Given the description of an element on the screen output the (x, y) to click on. 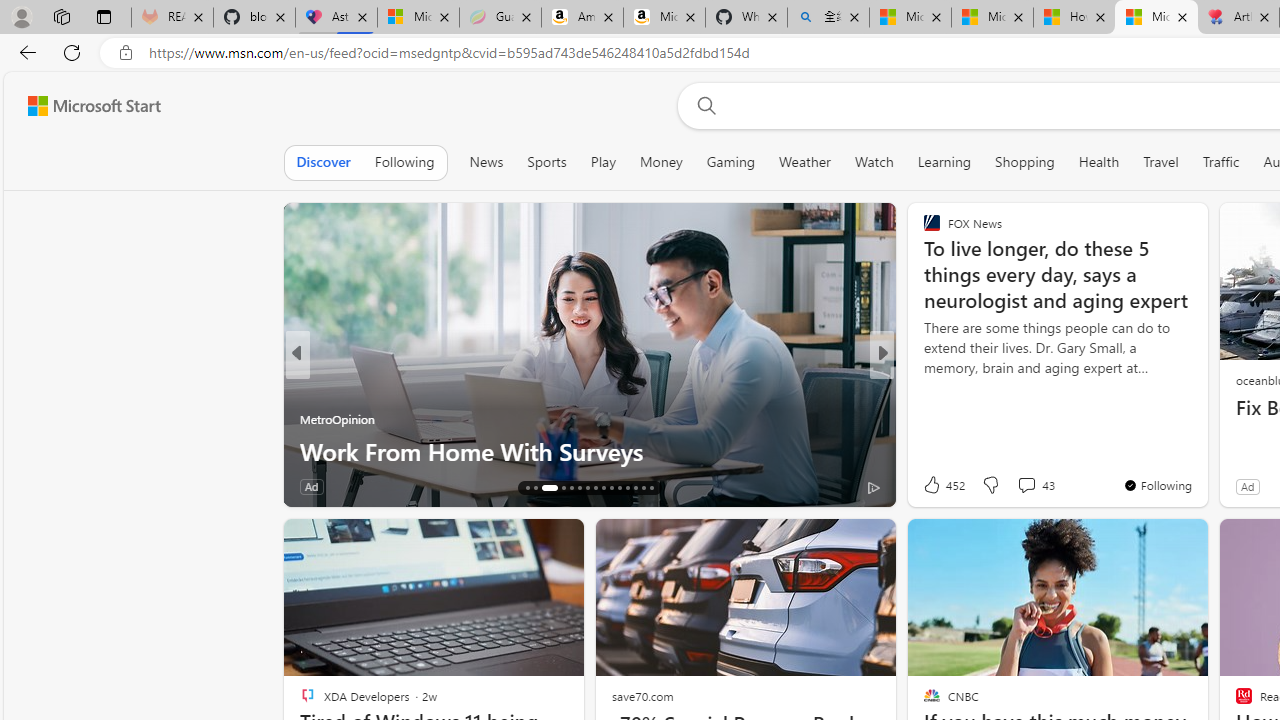
Moneywise (923, 386)
Discover (323, 161)
Sports (546, 162)
Weather (804, 162)
AutomationID: tab-28 (635, 487)
Traffic (1220, 162)
Travel (1160, 161)
AutomationID: tab-19 (557, 487)
View comments 496 Comment (1013, 485)
View comments 3 Comment (1007, 485)
HowToGeek (923, 386)
Web search (702, 105)
